Given the description of an element on the screen output the (x, y) to click on. 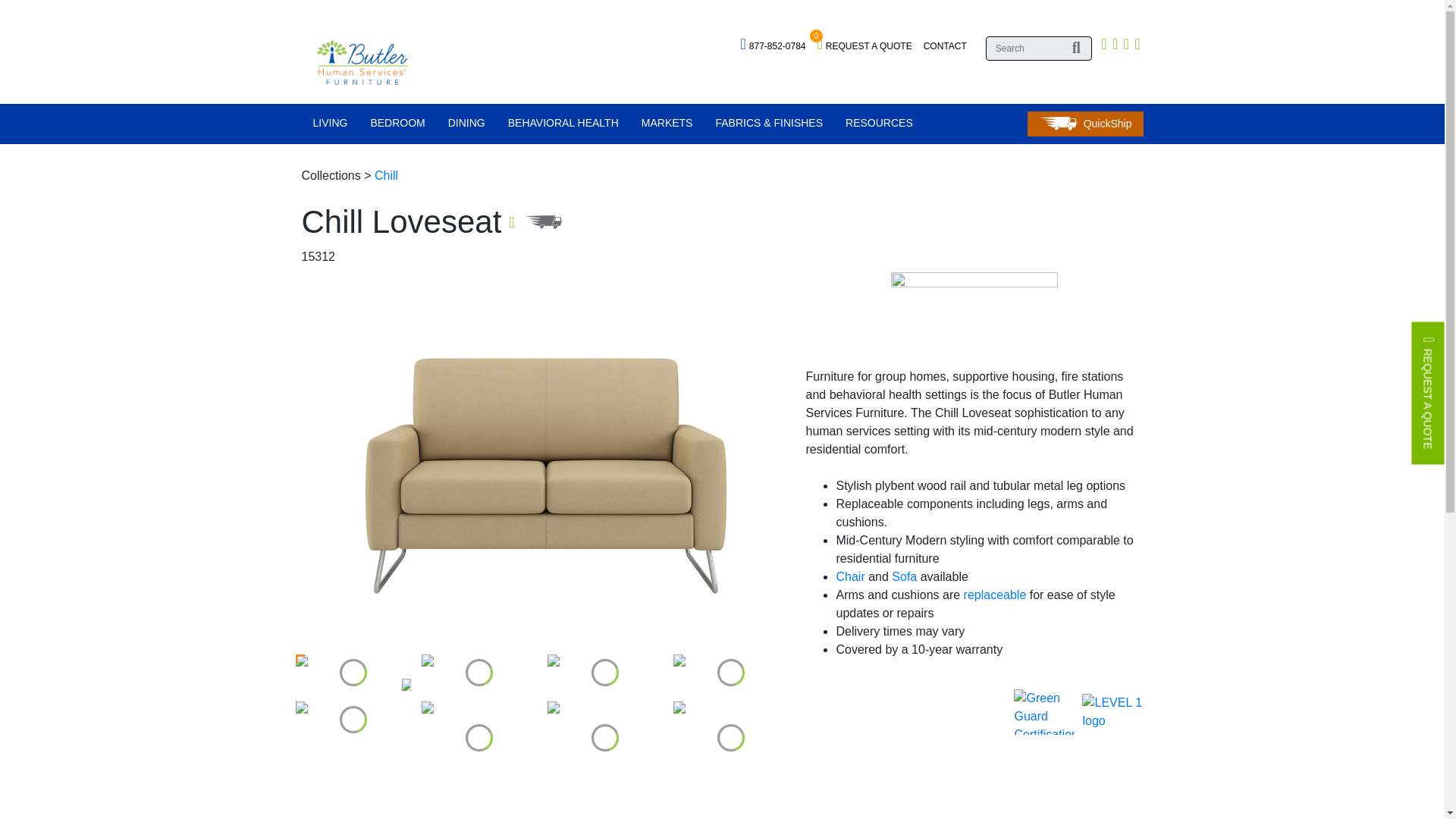
877-852-0784 (864, 44)
Living (772, 44)
Search for: (330, 125)
LIVING (1038, 48)
CONTACT (330, 125)
